Given the description of an element on the screen output the (x, y) to click on. 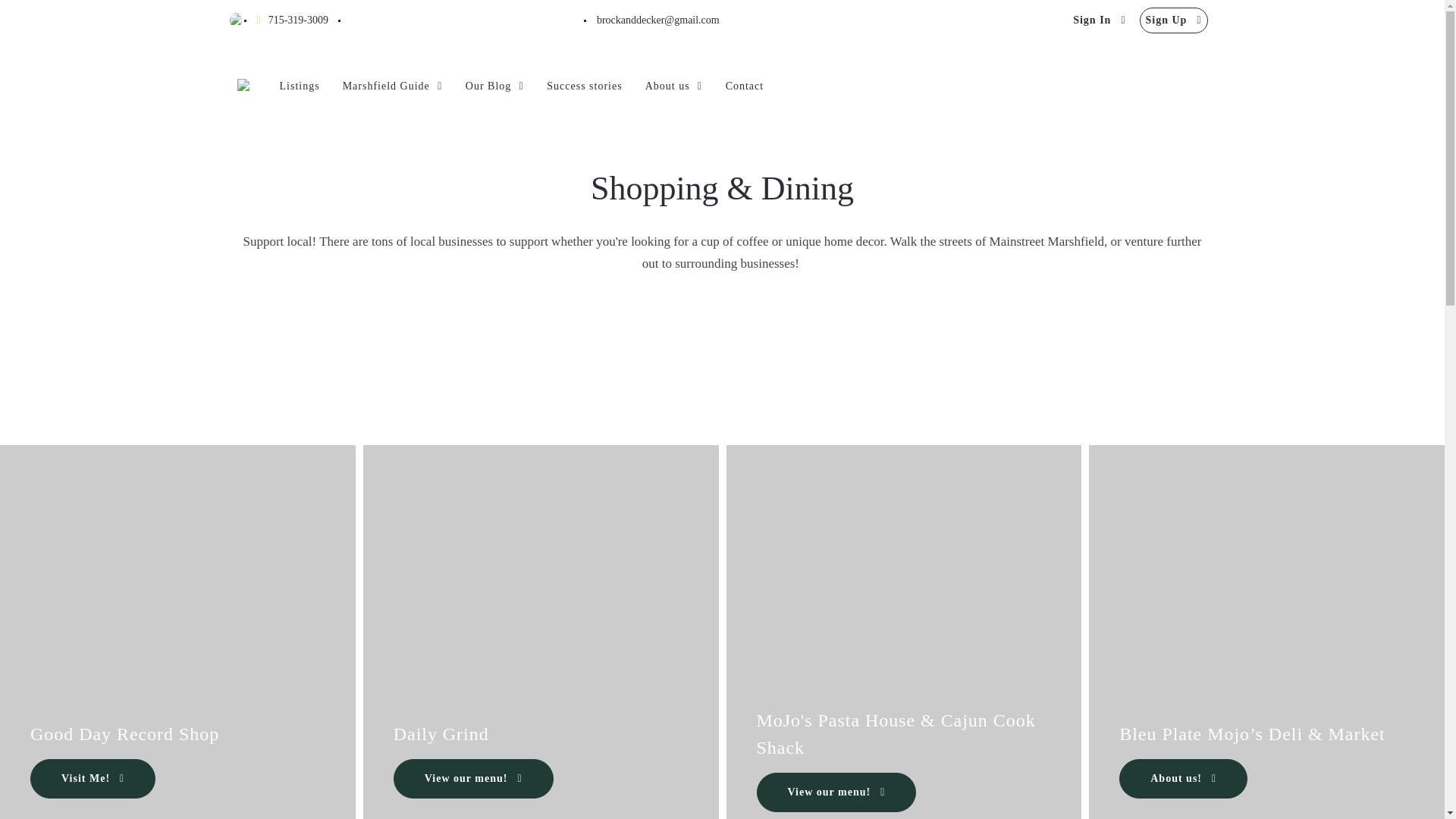
Sign In (1099, 20)
Our Blog (494, 86)
Marshfield Guide (392, 86)
Sign Up (1174, 20)
715-319-3009 (291, 19)
Listings (298, 86)
